Given the description of an element on the screen output the (x, y) to click on. 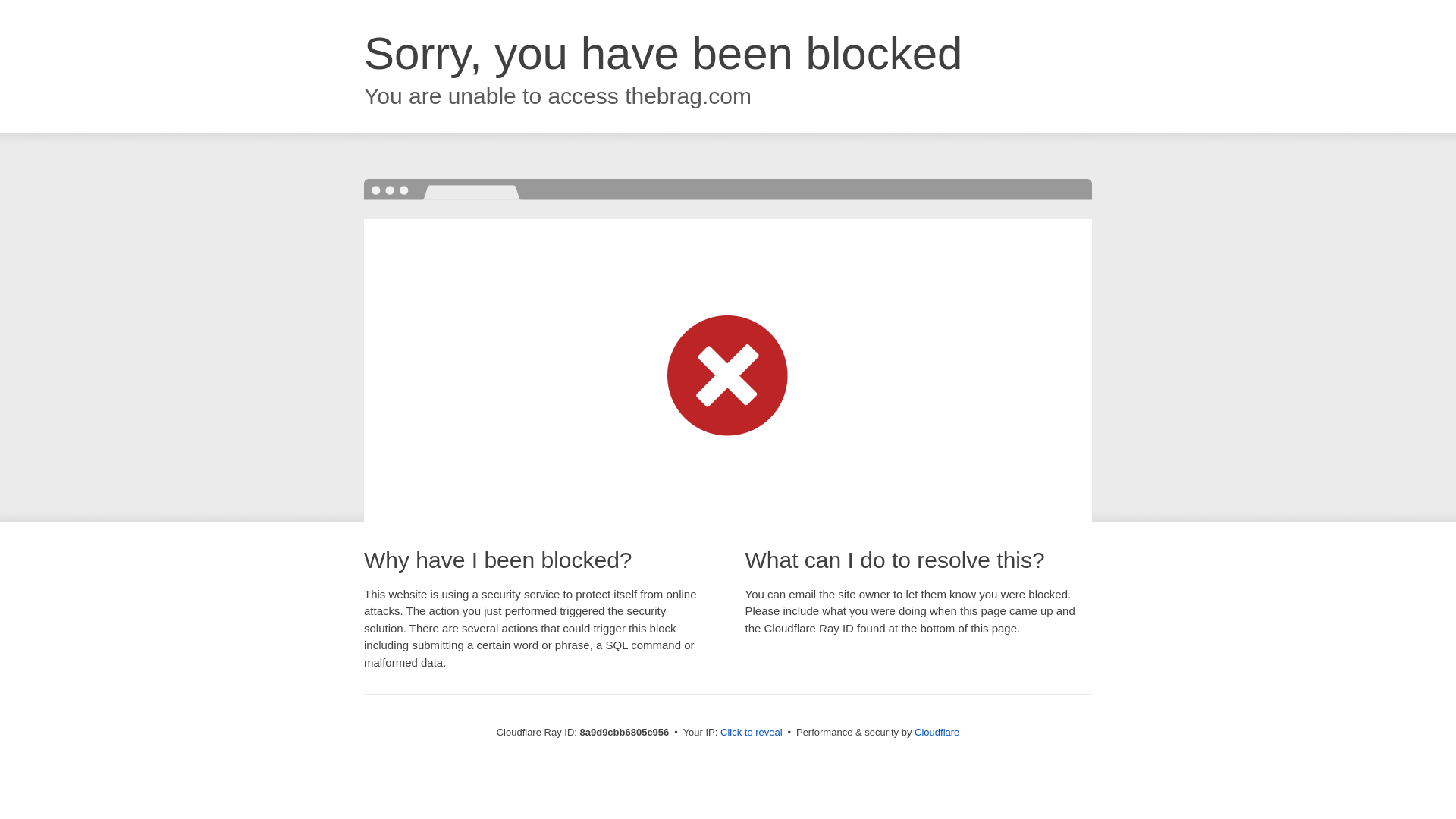
Click to reveal (751, 732)
Cloudflare (936, 731)
